Given the description of an element on the screen output the (x, y) to click on. 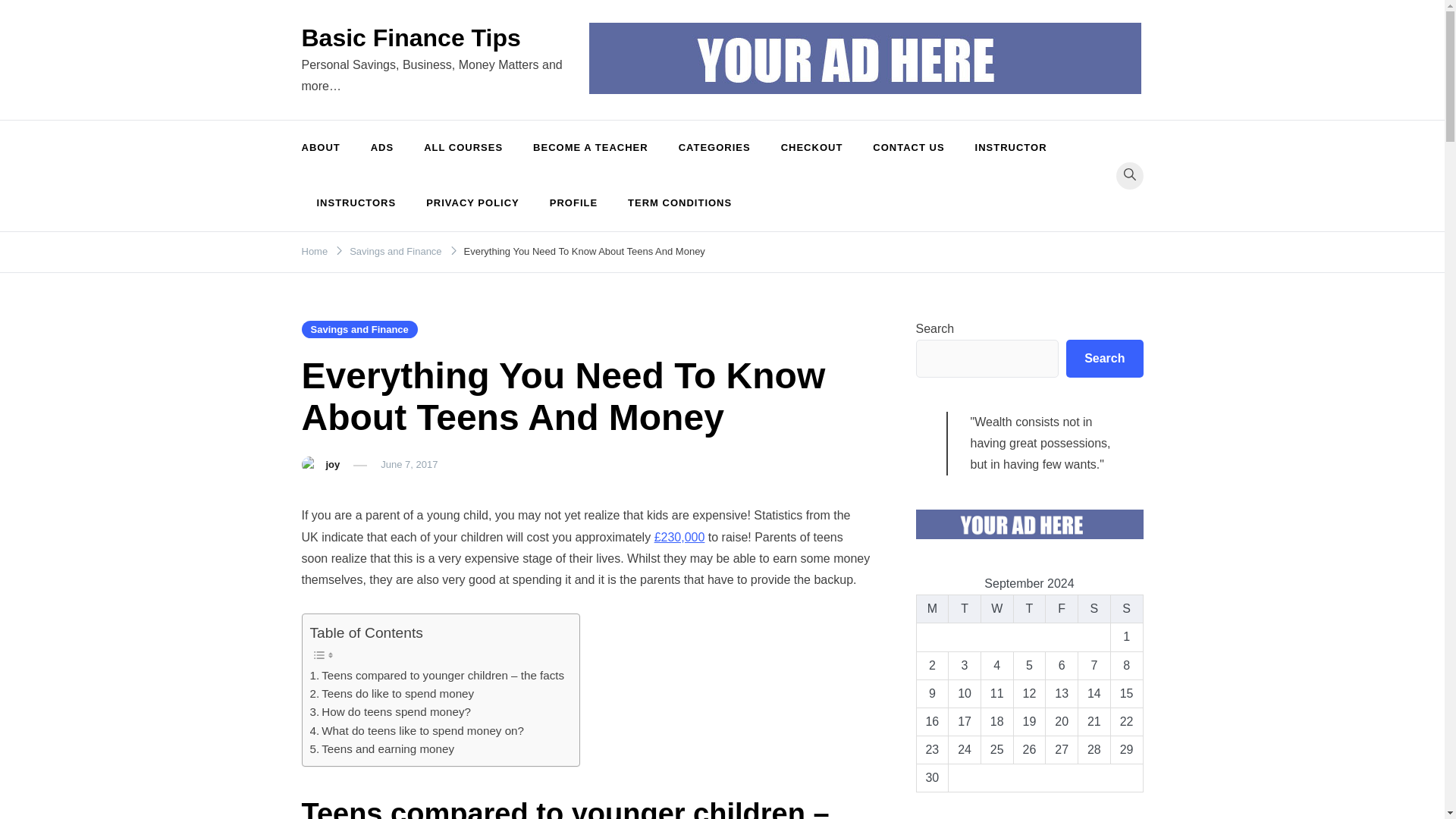
PRIVACY POLICY (472, 203)
How do teens spend money? (389, 711)
ALL COURSES (463, 148)
TERM CONDITIONS (679, 203)
Teens do like to spend money (391, 693)
joy (333, 464)
ADS (382, 148)
INSTRUCTORS (356, 203)
Home (315, 251)
Savings and Finance (395, 251)
